Given the description of an element on the screen output the (x, y) to click on. 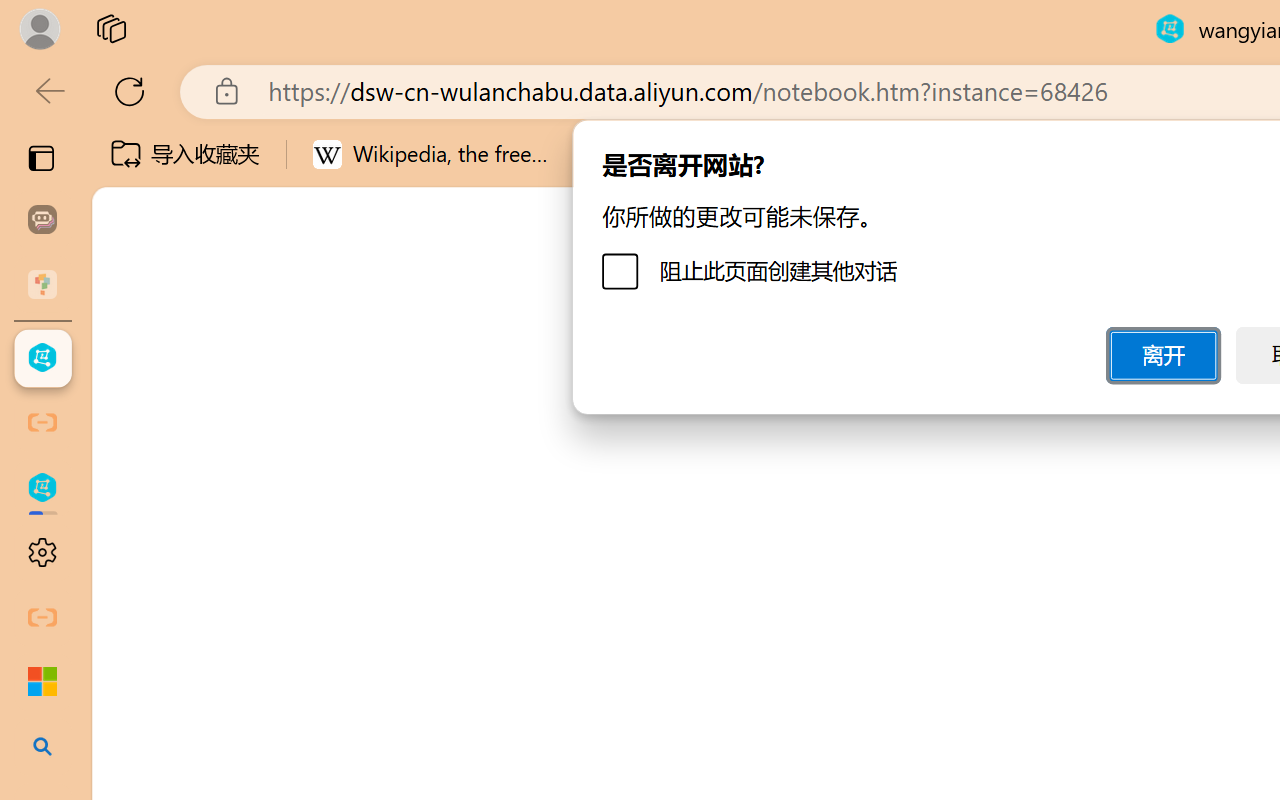
Class: menubar compact overflow-menu-only (135, 358)
Explorer actions (390, 358)
Explorer (Ctrl+Shift+E) (135, 432)
Microsoft security help and learning (42, 681)
wangyian_webcrawler - DSW (42, 487)
